Given the description of an element on the screen output the (x, y) to click on. 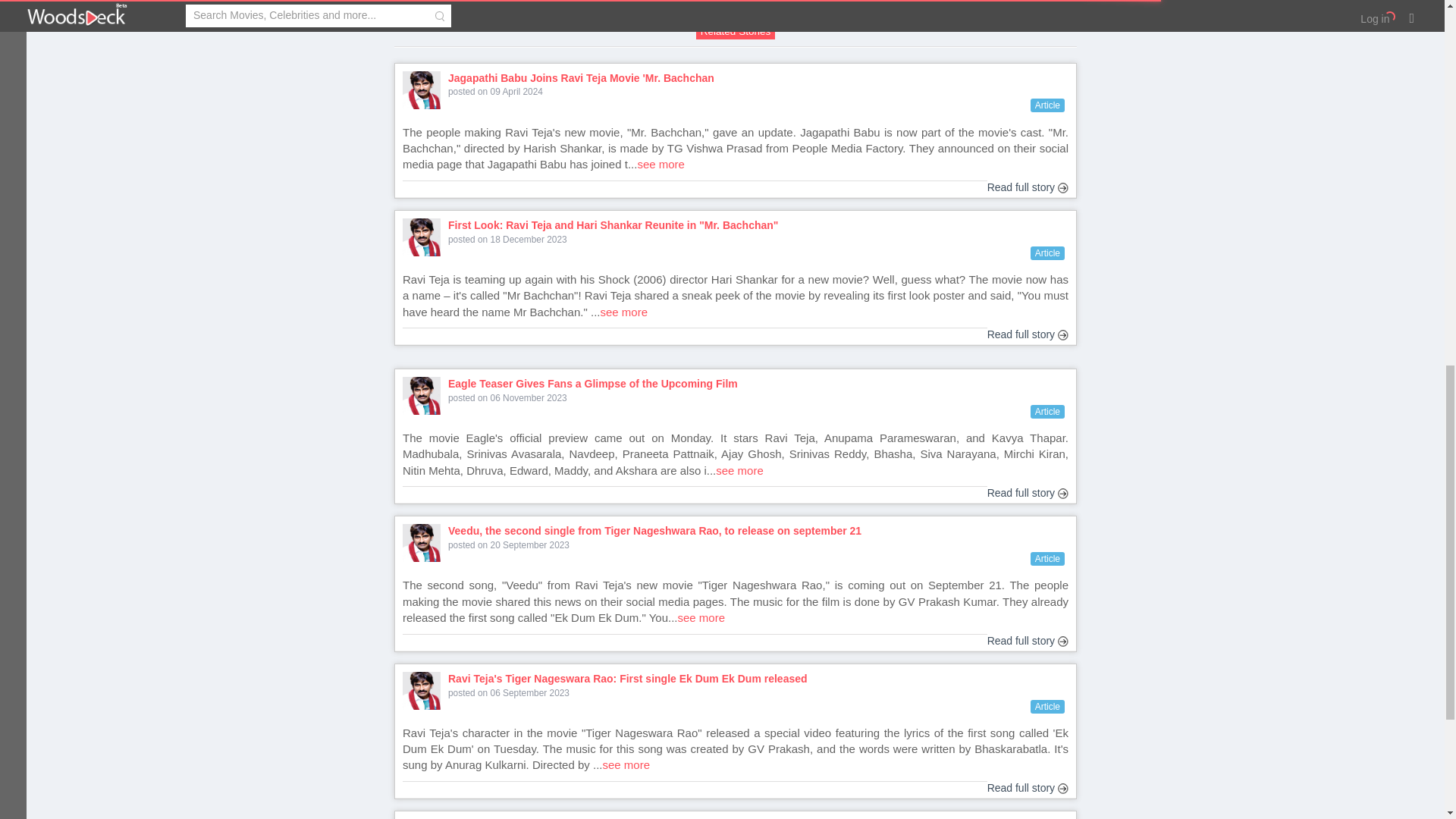
see more (660, 164)
Read full story (1027, 187)
Eagle Teaser Gives Fans a Glimpse of the Upcoming Film (761, 384)
Read full story (1027, 335)
see more (623, 311)
Jagapathi Babu Joins Ravi Teja Movie 'Mr. Bachchan (761, 78)
